Given the description of an element on the screen output the (x, y) to click on. 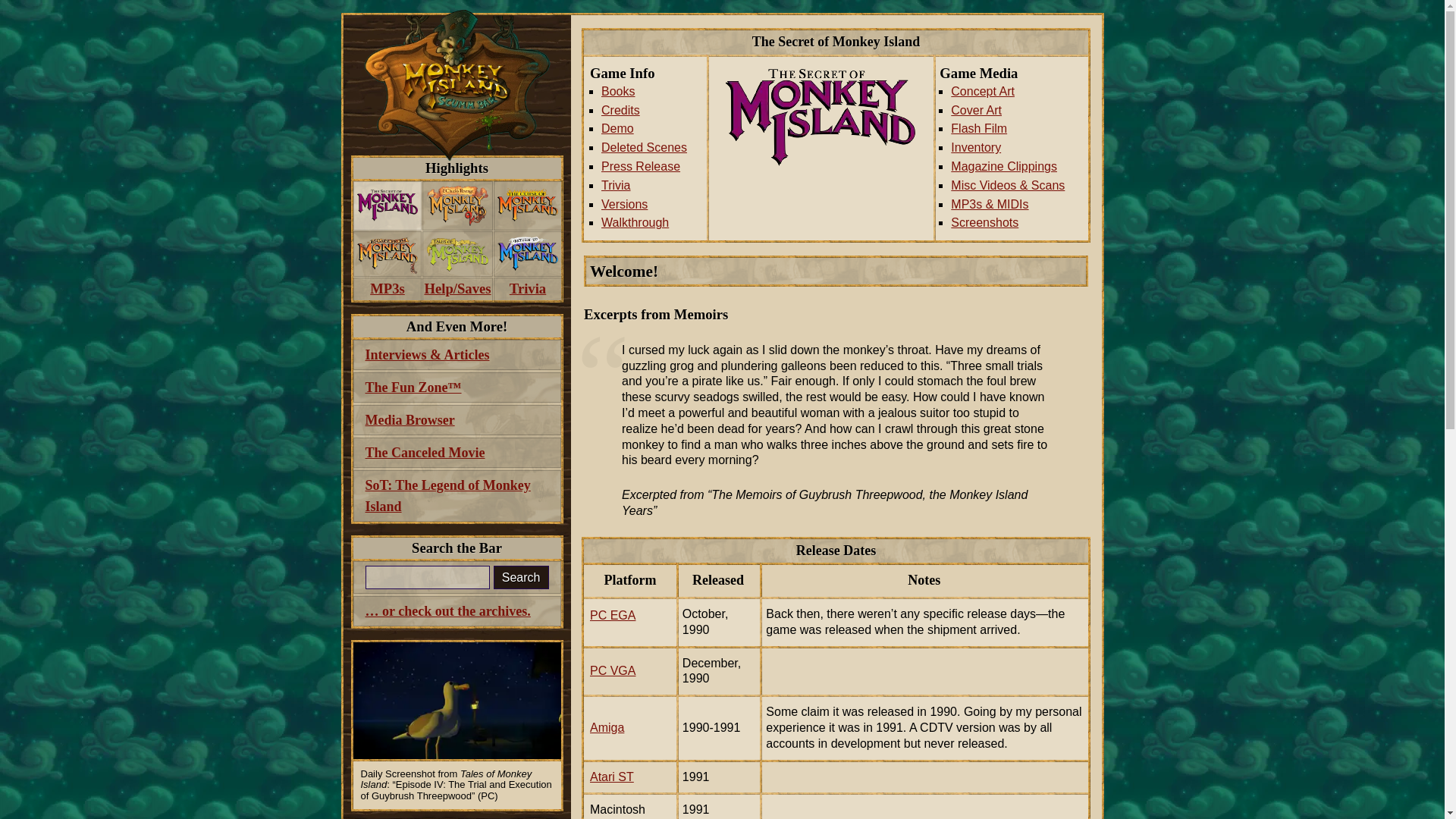
Media Browser (456, 419)
Versions (650, 204)
Flash Film (1015, 128)
Cover Art (1015, 110)
Credits (650, 110)
Walkthrough (650, 222)
Deleted Scenes (650, 148)
MP3s (387, 289)
Press Release (650, 167)
Demo (650, 128)
Trivia (527, 289)
The Canceled Movie (456, 452)
SoT: The Legend of Monkey Island (456, 495)
Search (520, 576)
Books (650, 91)
